Given the description of an element on the screen output the (x, y) to click on. 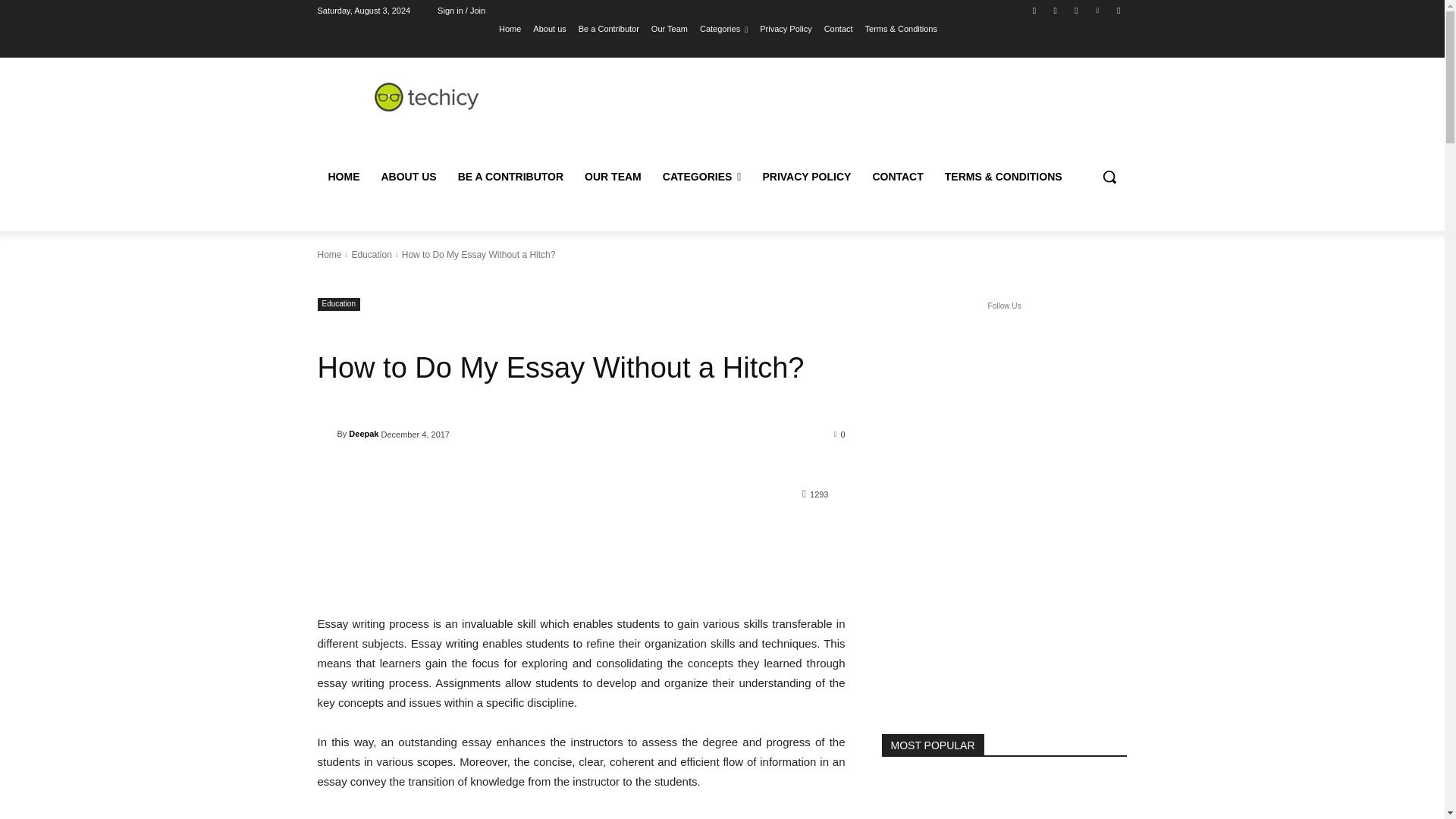
Contact (838, 28)
Facebook (1034, 9)
Deepak (326, 433)
Youtube (1117, 9)
Be a Contributor (608, 28)
Instagram (1055, 9)
Vimeo (1097, 9)
Our Team (668, 28)
Home (510, 28)
Categories (724, 28)
